Given the description of an element on the screen output the (x, y) to click on. 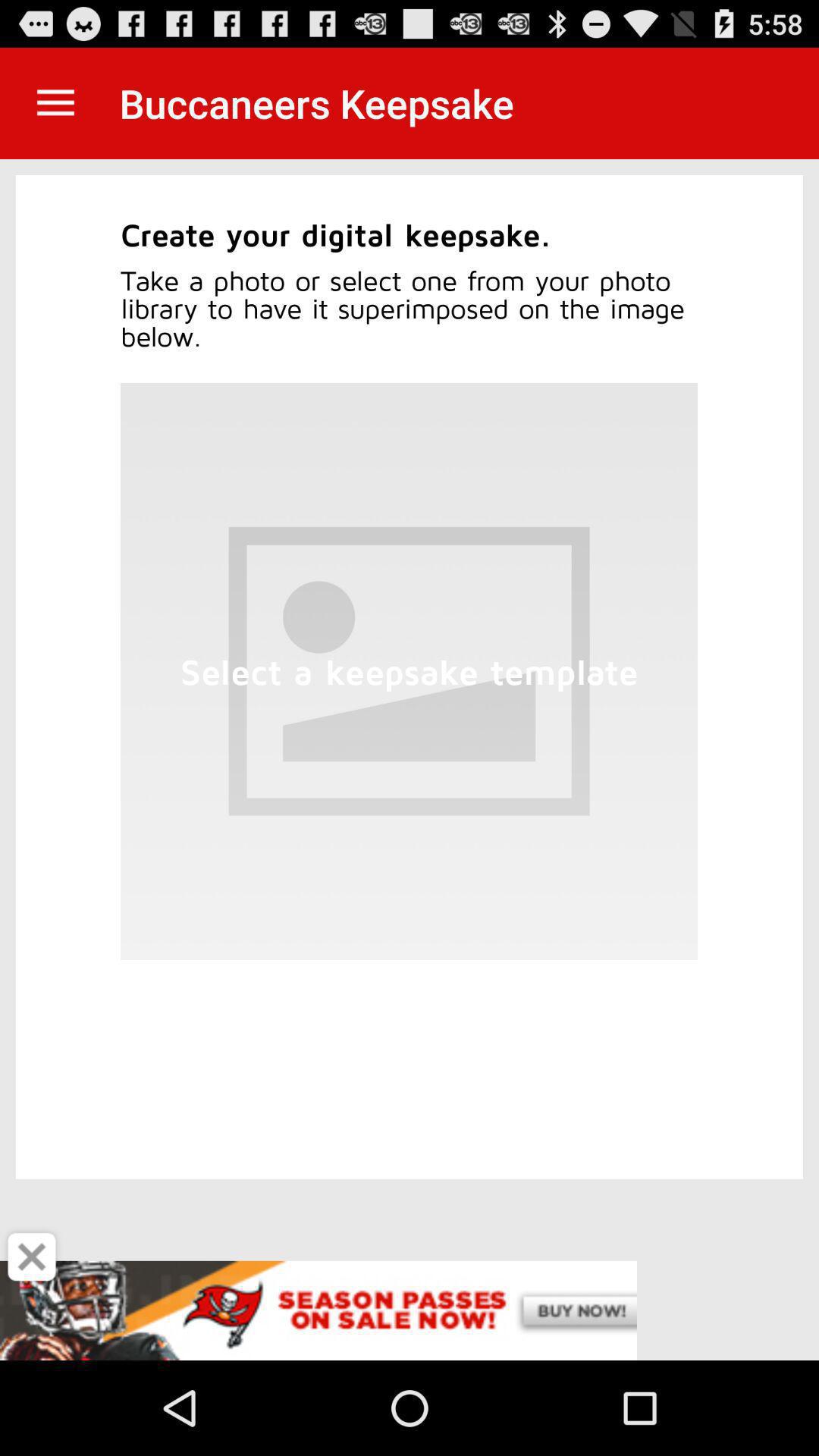
remove advertisement (31, 1256)
